Given the description of an element on the screen output the (x, y) to click on. 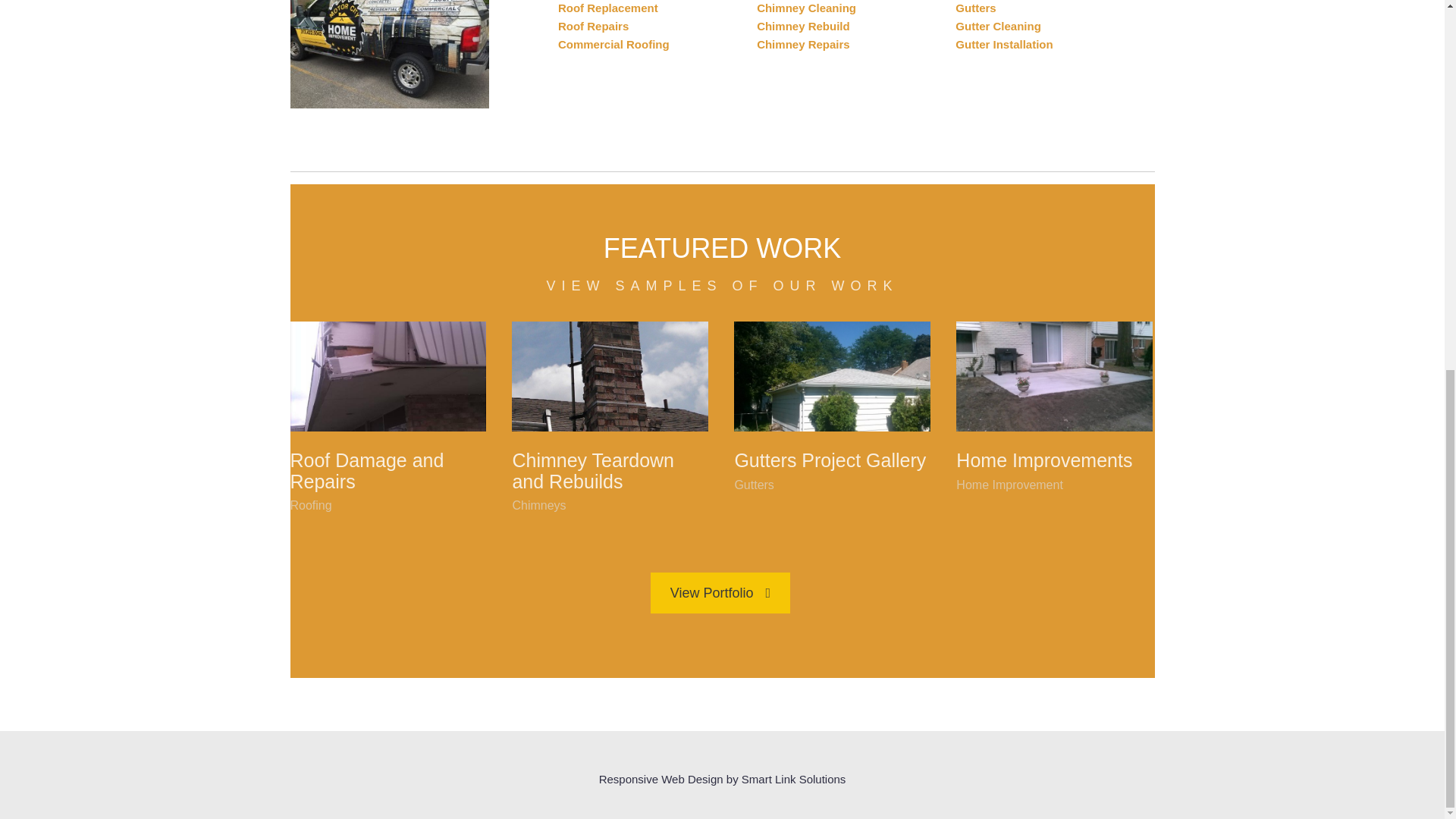
Gutters (753, 484)
Home Improvement (1009, 484)
Gutters (975, 7)
Chimney Repairs (803, 43)
Chimney Rebuild (803, 25)
Chimneys (539, 504)
Responsive Web Design by Smart Link Solutions (721, 779)
Gutters Project Gallery (829, 459)
Chimney Cleaning (806, 7)
Roof Damage and Repairs (366, 470)
Roofing (310, 504)
View Portfolio (720, 592)
Roof Replacement (607, 7)
Gutter Installation (1003, 43)
Commercial Roofing (613, 43)
